Given the description of an element on the screen output the (x, y) to click on. 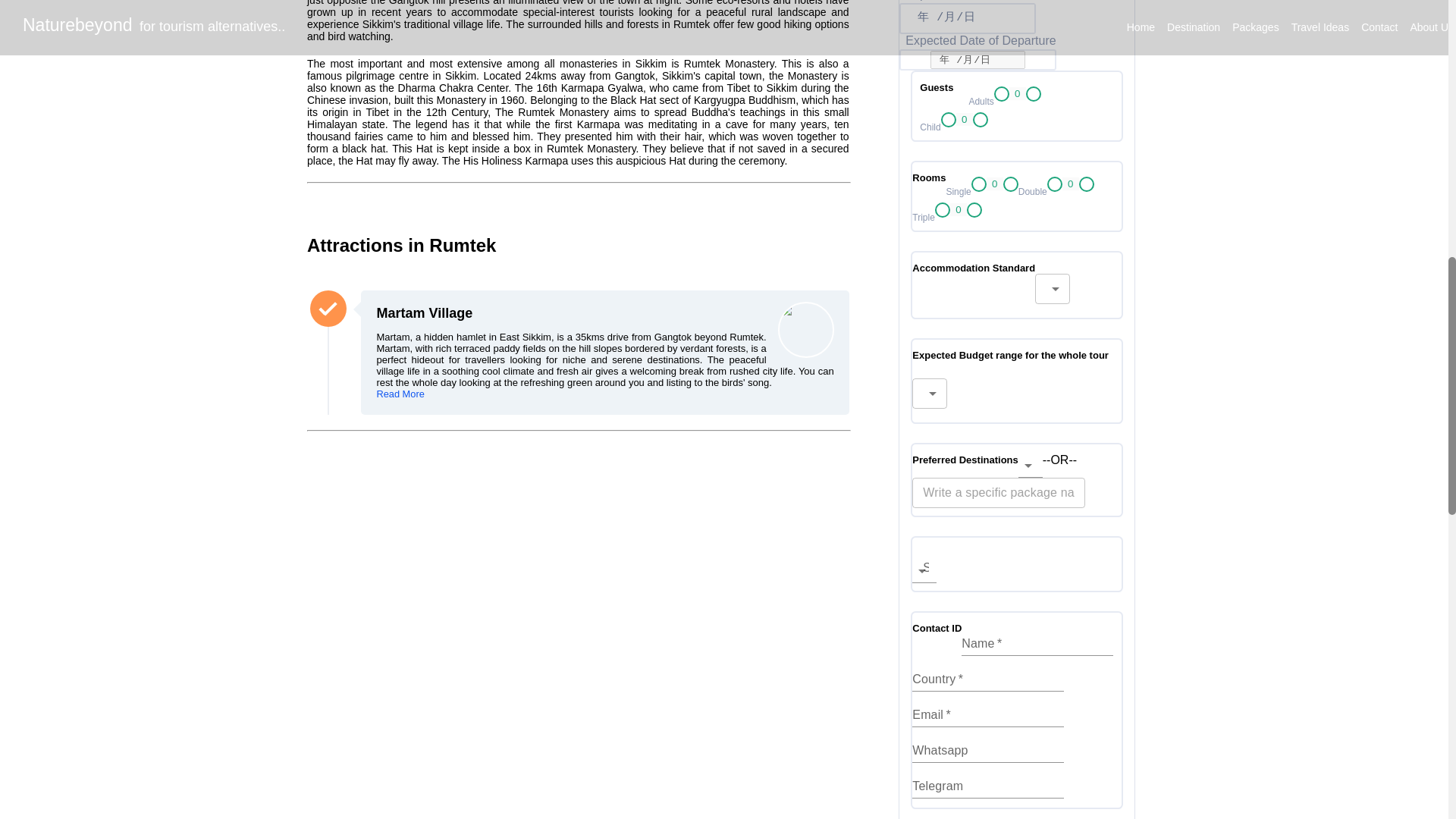
0 (1070, 183)
0 (964, 119)
0 (1017, 92)
0 (958, 209)
0 (995, 183)
